Given the description of an element on the screen output the (x, y) to click on. 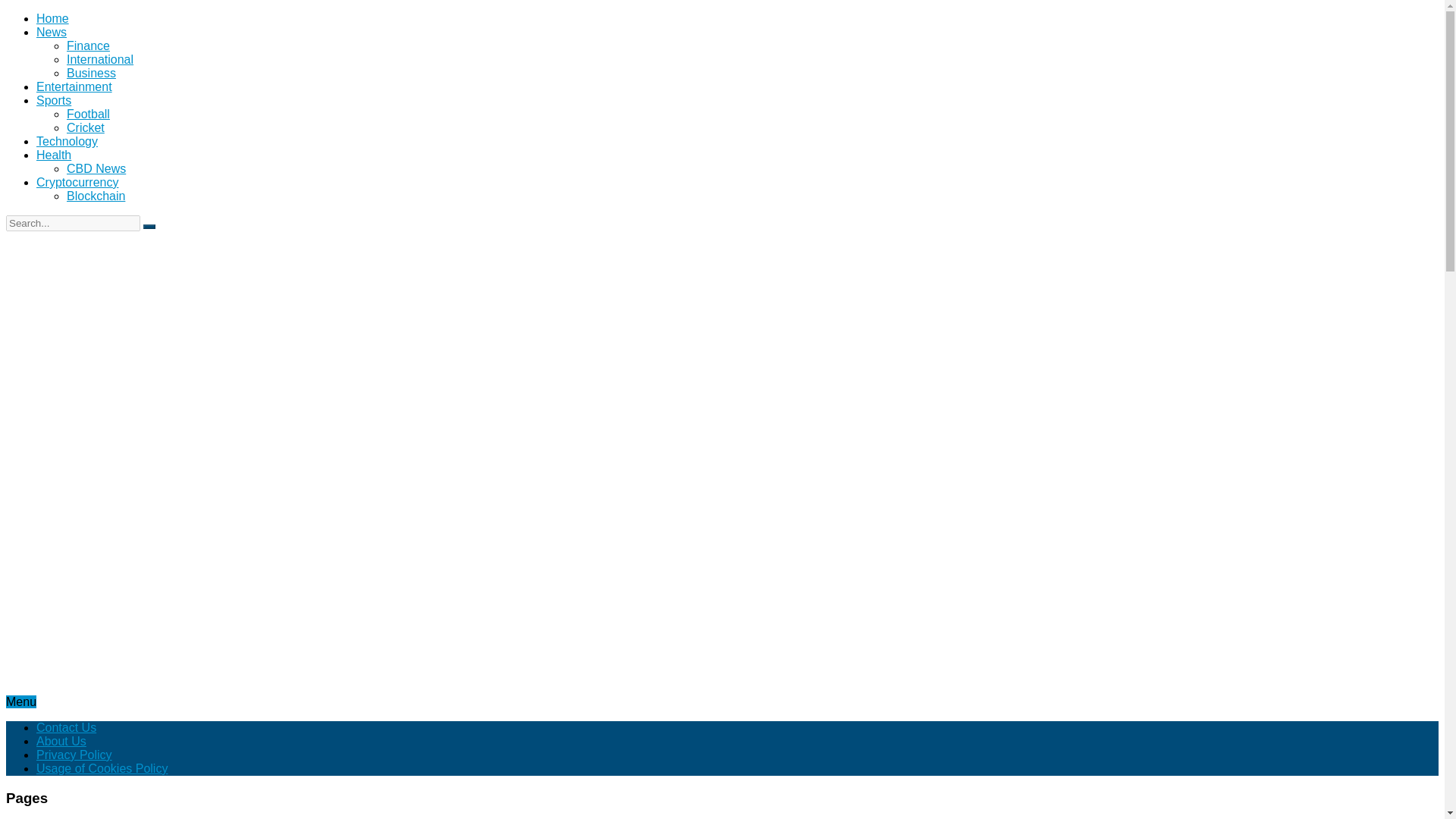
CBD News (95, 168)
International (99, 59)
Cricket (85, 127)
Usage of Cookies Policy (101, 768)
Technology (66, 141)
Contact Us (66, 727)
Football (88, 113)
Finance (88, 45)
Health (53, 154)
Blockchain (95, 195)
